Given the description of an element on the screen output the (x, y) to click on. 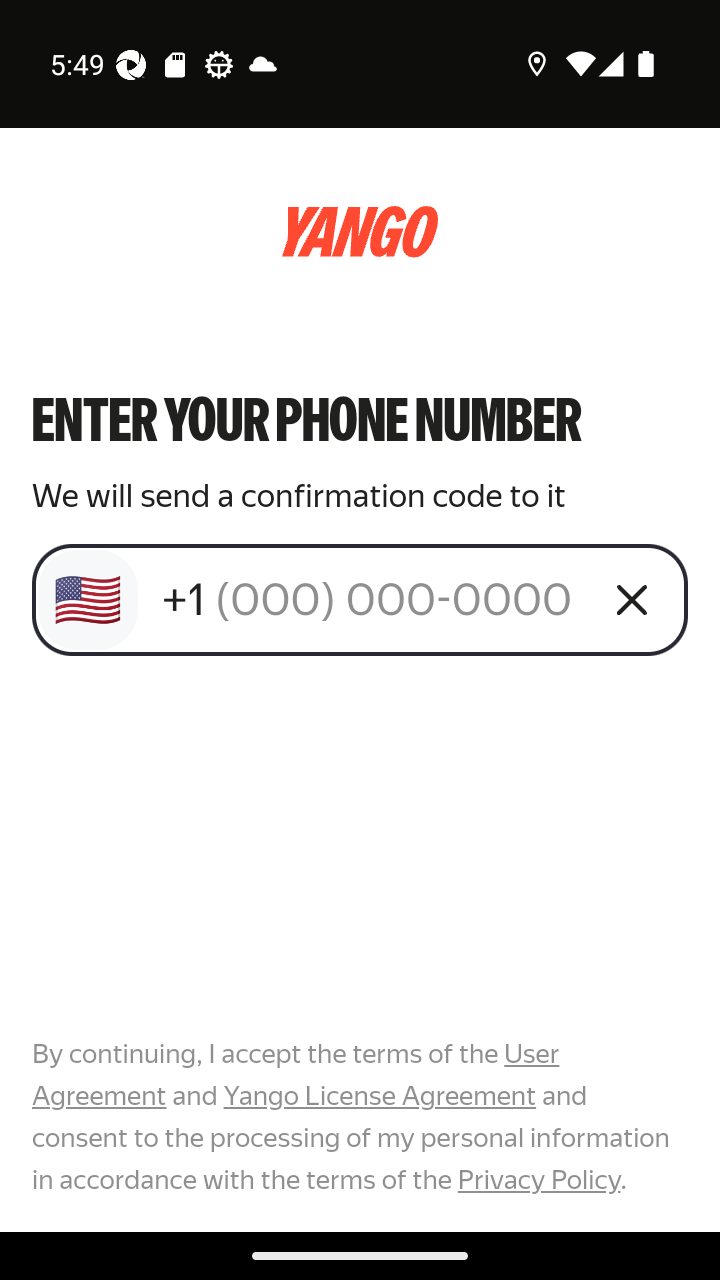
logo (359, 231)
🇺🇸 (88, 600)
+1 (372, 599)
User Agreement (295, 1075)
Yango License Agreement (379, 1096)
Privacy Policy (538, 1179)
